Given the description of an element on the screen output the (x, y) to click on. 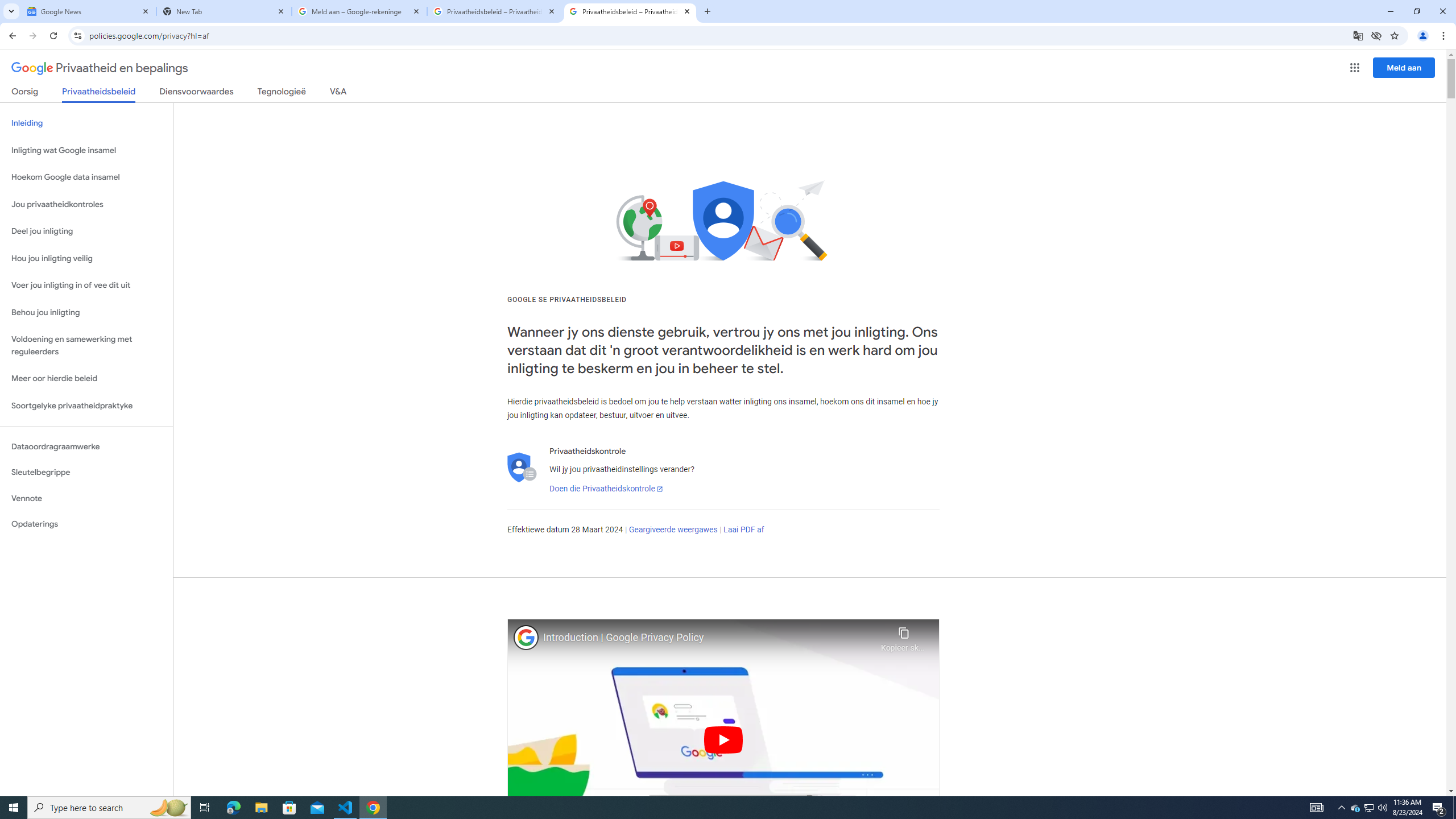
Hoekom Google data insamel (86, 176)
Privaatheid en bepalings (99, 68)
Search tabs (10, 11)
Address and search bar (717, 35)
View site information (77, 35)
Meld aan (1404, 67)
Oorsig (25, 93)
Laai PDF af (743, 529)
Google-programme (1355, 67)
Geargiveerde weergawes (672, 529)
Jou privaatheidkontroles (86, 204)
